Given the description of an element on the screen output the (x, y) to click on. 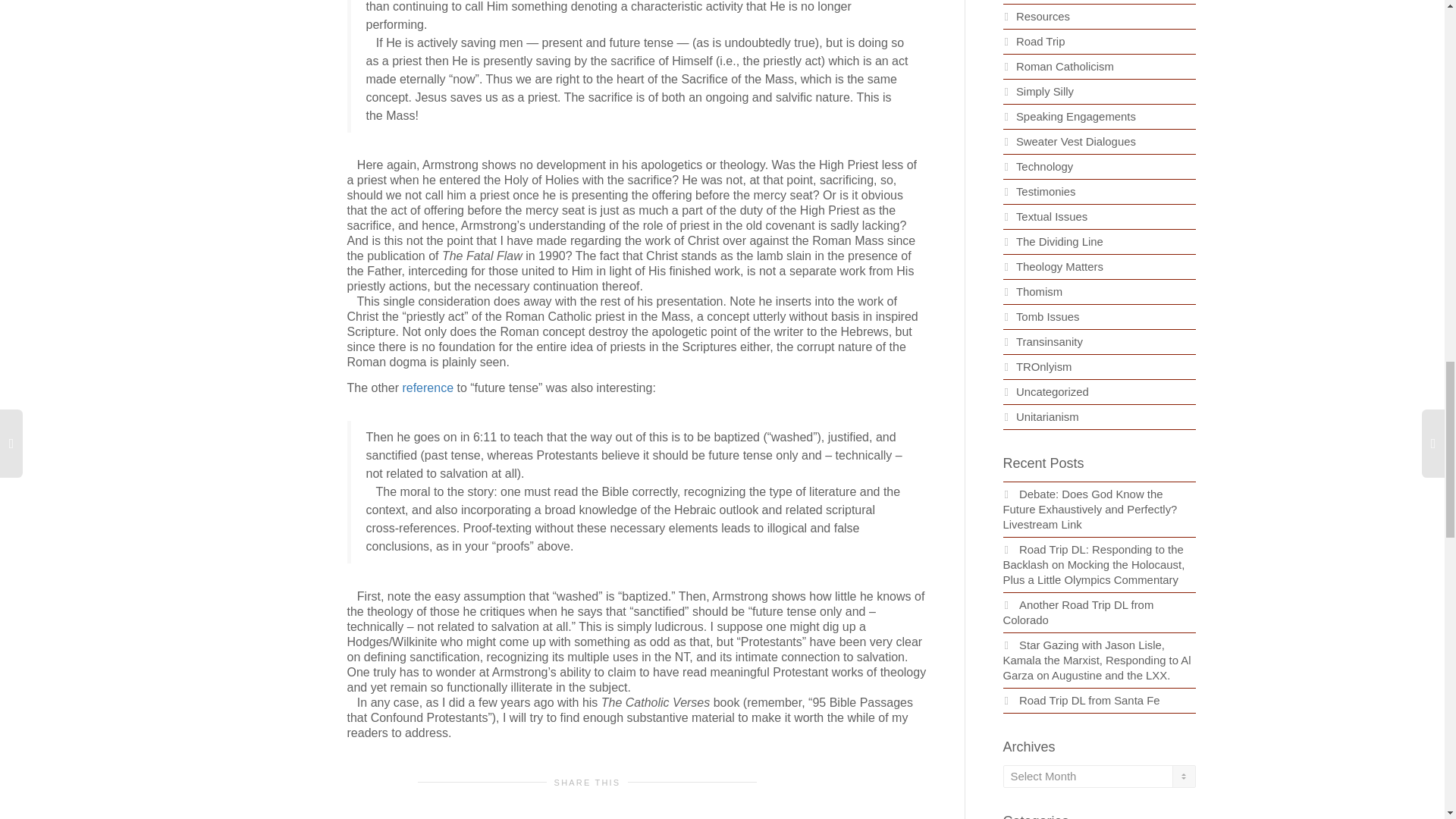
reference (426, 387)
